Given the description of an element on the screen output the (x, y) to click on. 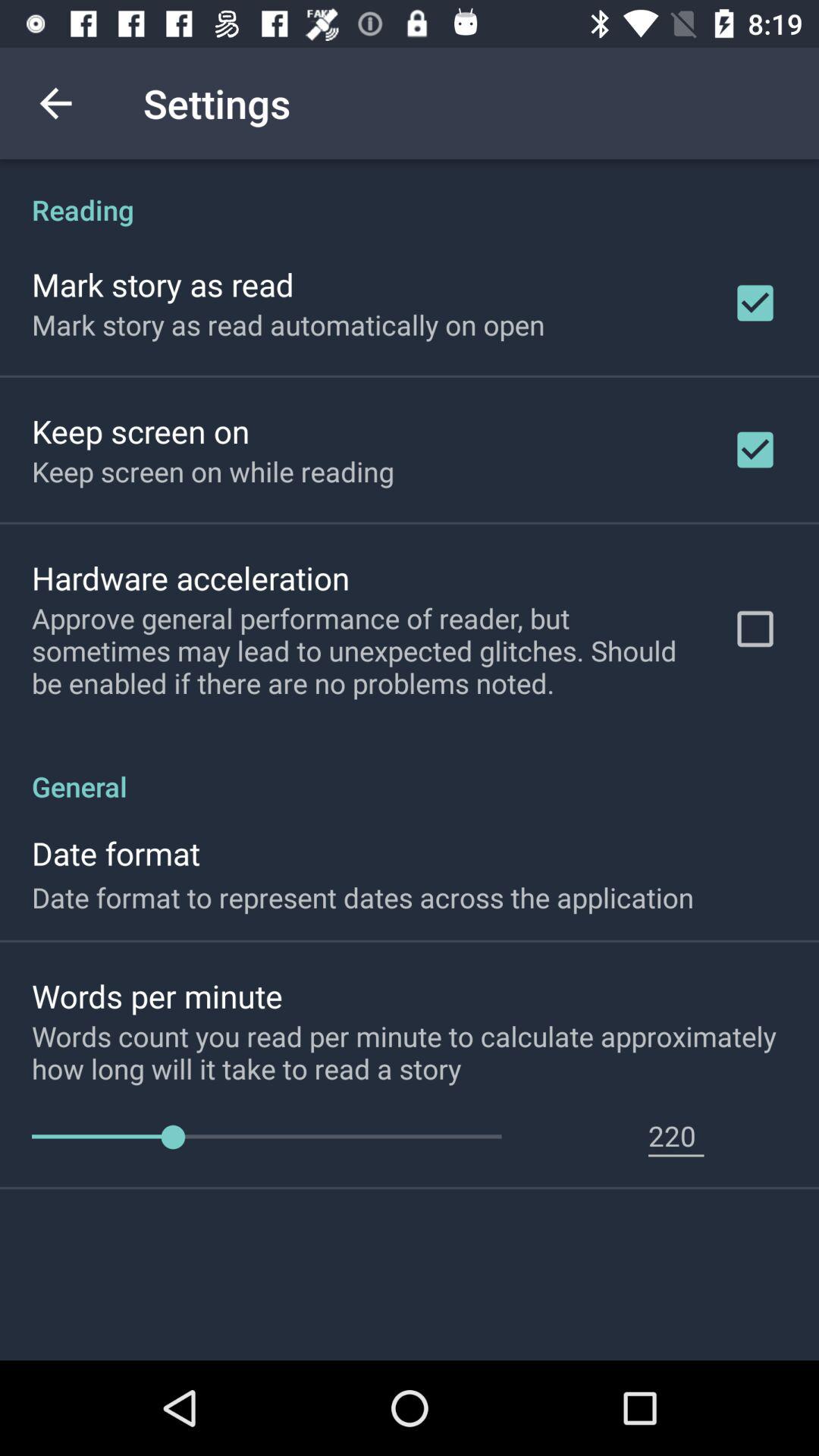
open icon below the words count you (676, 1135)
